Given the description of an element on the screen output the (x, y) to click on. 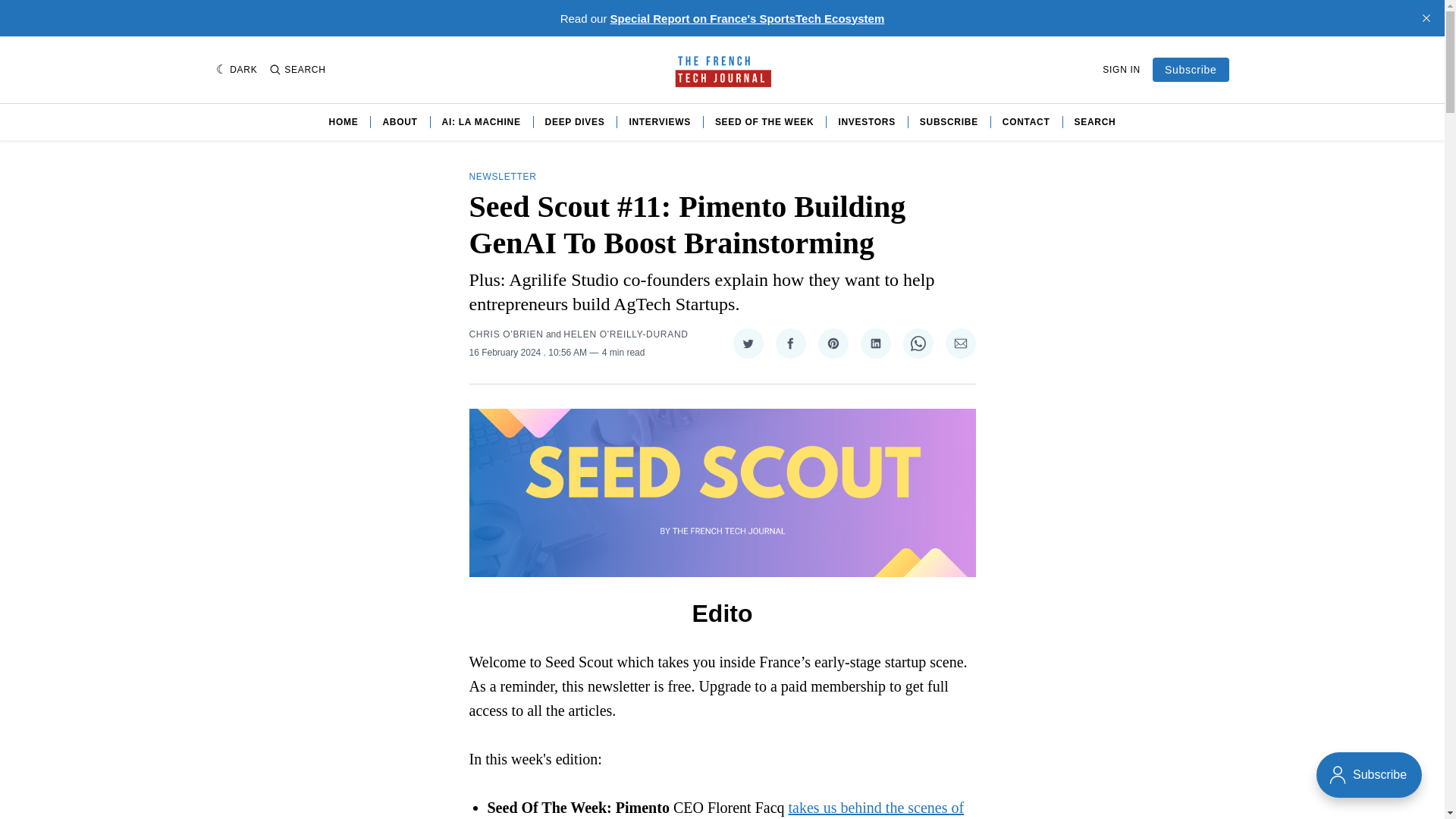
NEWSLETTER (501, 176)
SEED OF THE WEEK (763, 121)
HOME (343, 121)
Share via Email (959, 343)
HELEN O'REILLY-DURAND (625, 334)
SUBSCRIBE (949, 121)
Share on Twitter (747, 343)
SEARCH (296, 69)
Subscribe (1190, 69)
ABOUT (398, 121)
